Given the description of an element on the screen output the (x, y) to click on. 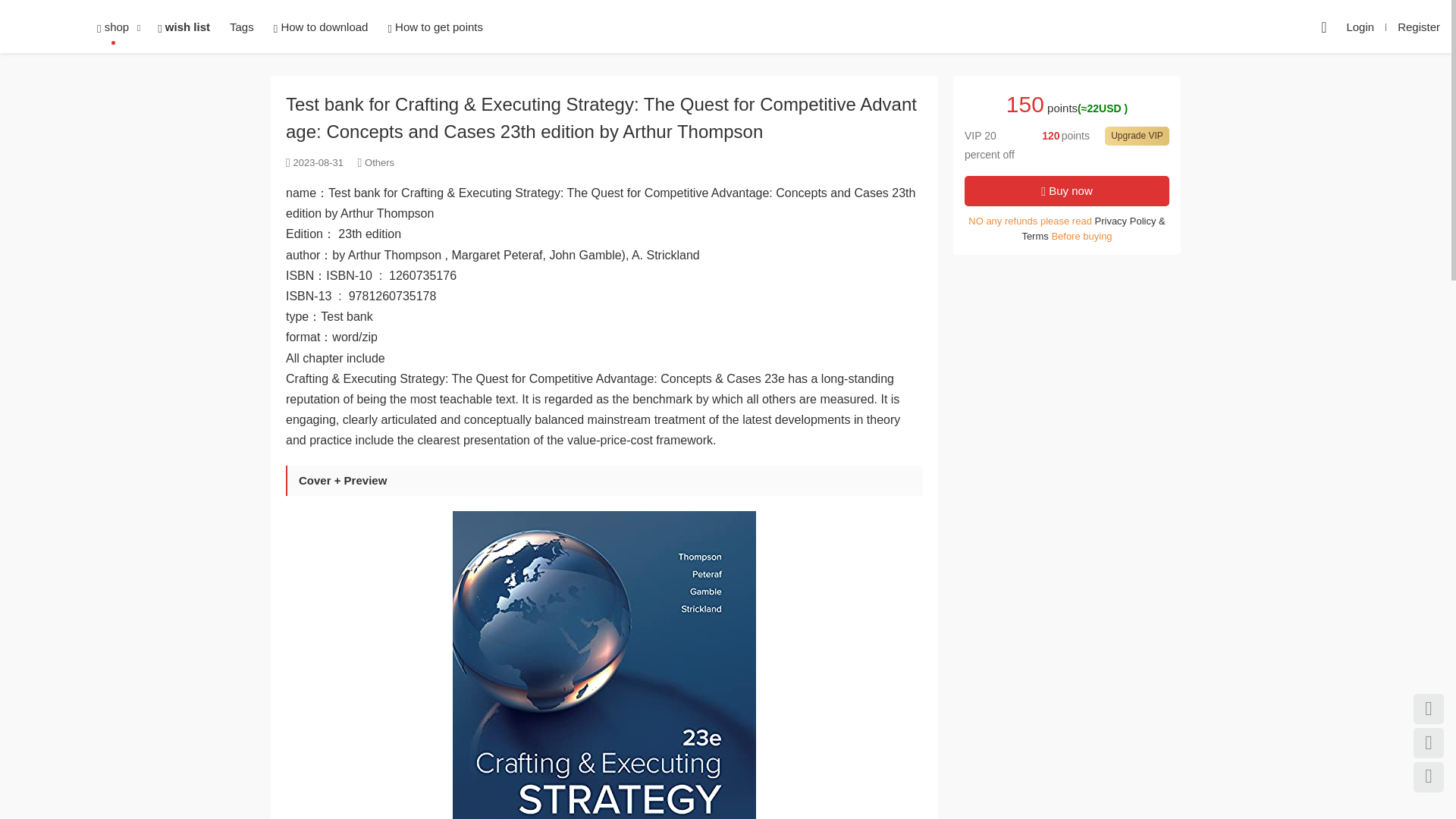
shop (112, 27)
Contribute (1323, 26)
How to get points (435, 27)
wish list (183, 27)
Others (379, 162)
How to download (320, 27)
Tags (241, 27)
qidiantiku (37, 26)
qidiantiku (37, 26)
Login (1359, 27)
Register (1418, 27)
